Given the description of an element on the screen output the (x, y) to click on. 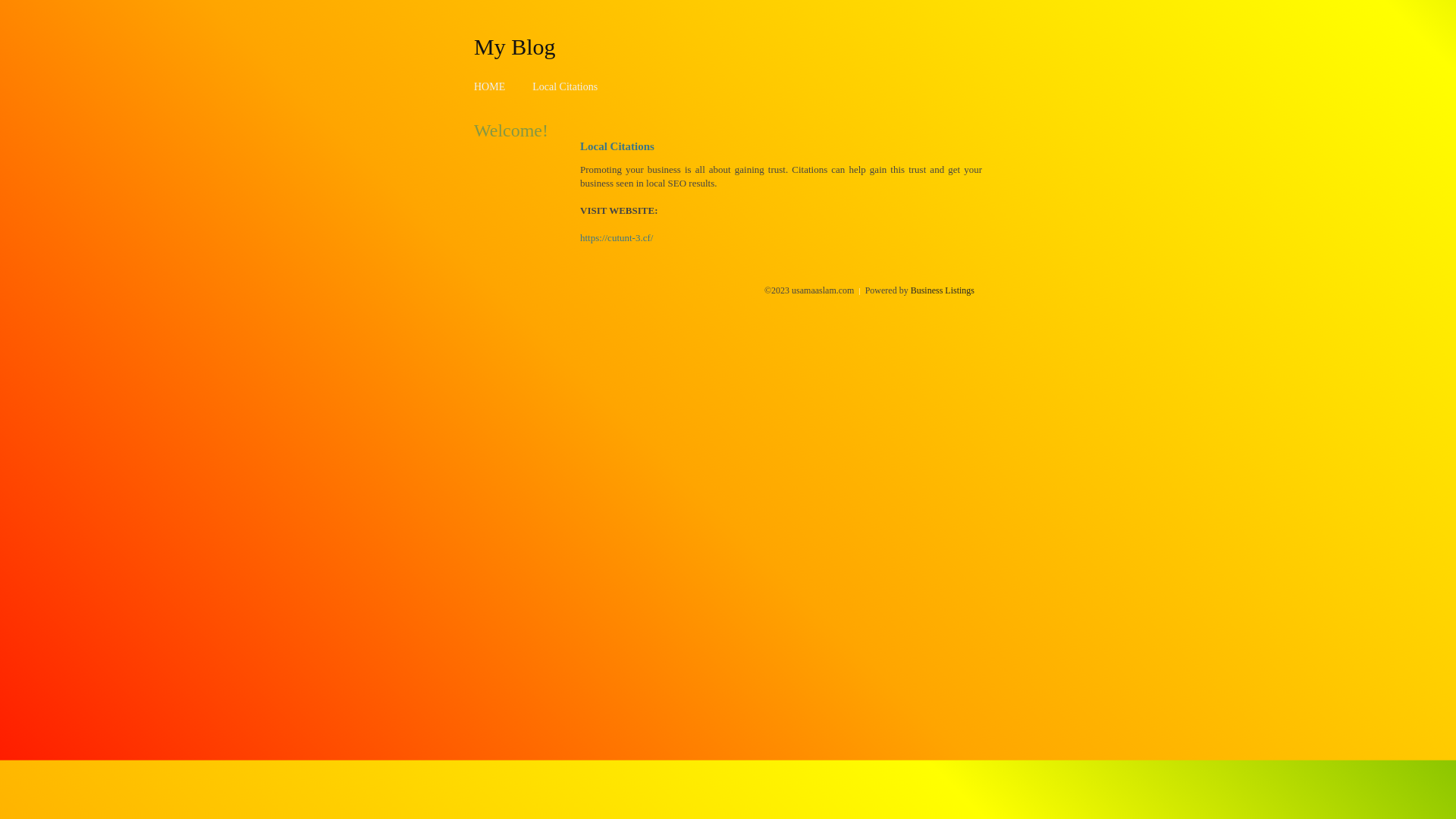
https://cutunt-3.cf/ Element type: text (616, 237)
My Blog Element type: text (514, 46)
HOME Element type: text (489, 86)
Business Listings Element type: text (942, 290)
Local Citations Element type: text (564, 86)
